Given the description of an element on the screen output the (x, y) to click on. 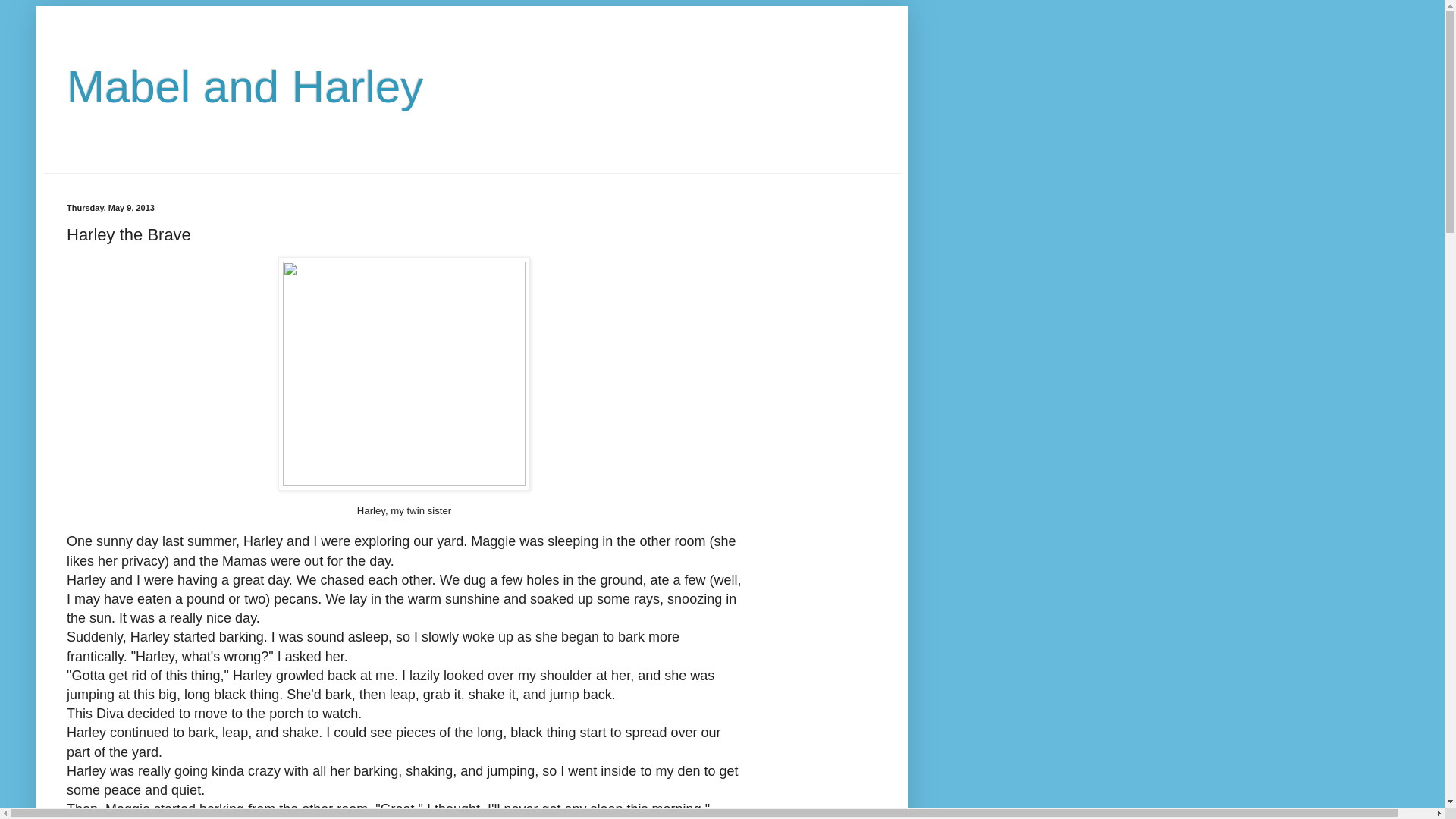
Mabel and Harley (244, 86)
